Given the description of an element on the screen output the (x, y) to click on. 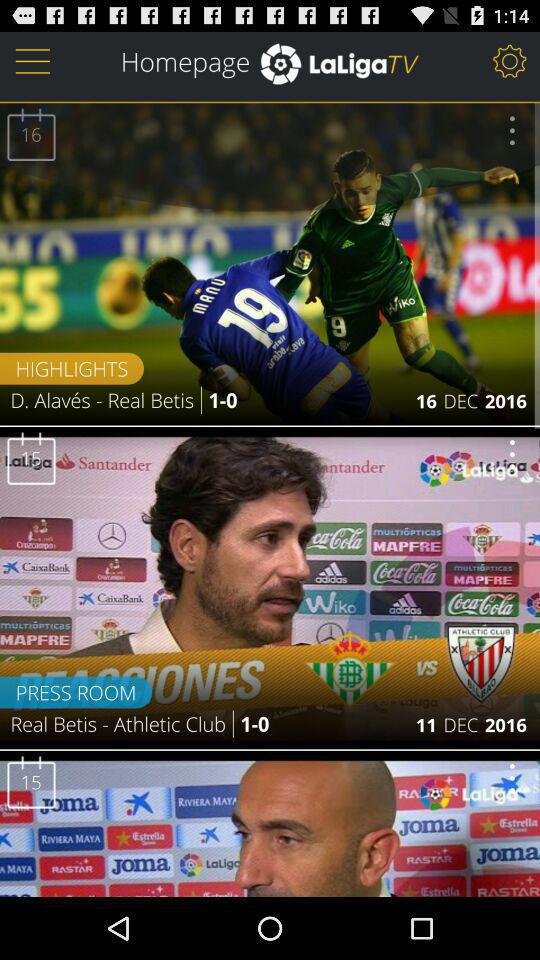
click on logo at top left corner of the page (33, 60)
